Given the description of an element on the screen output the (x, y) to click on. 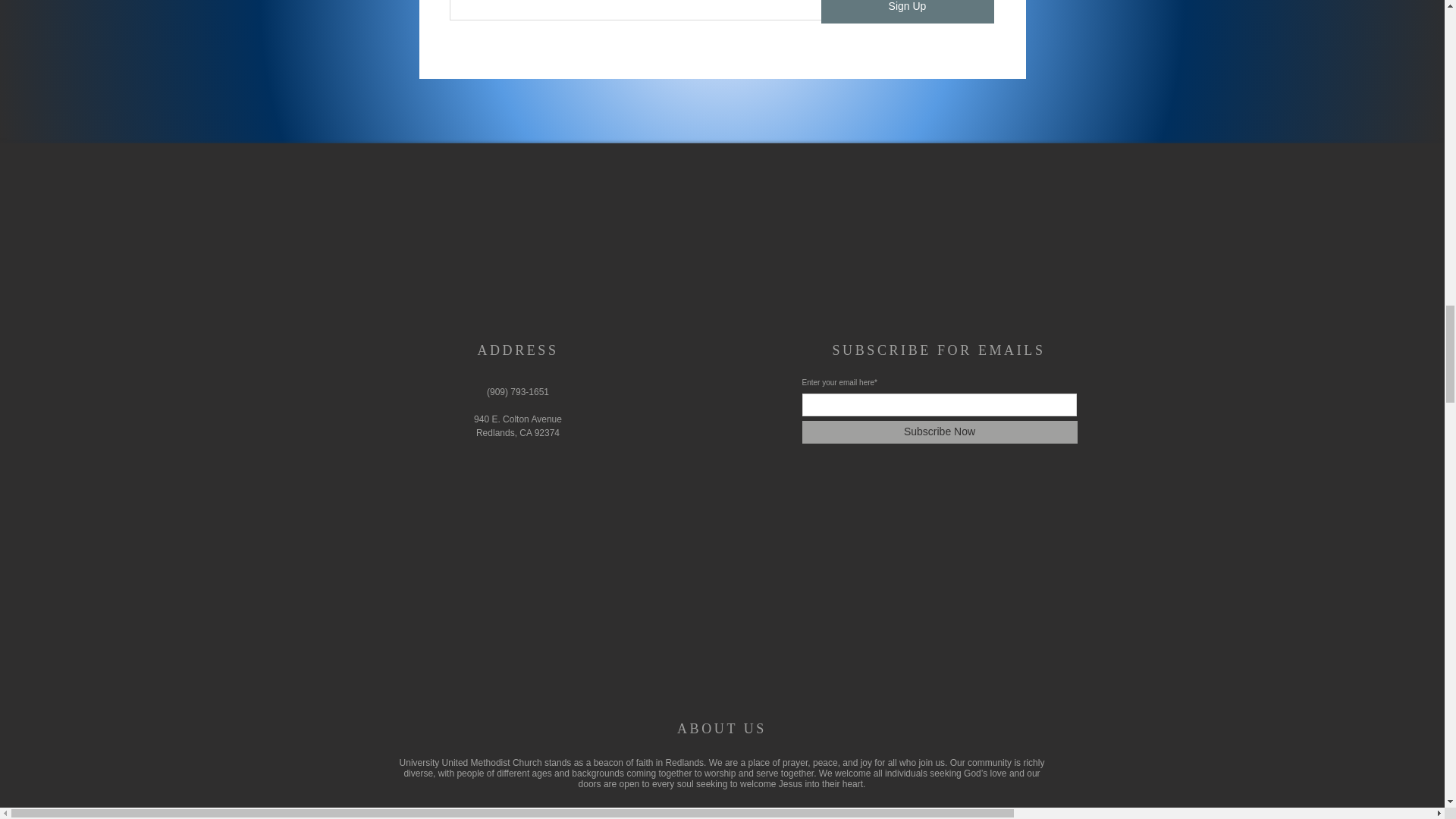
Subscribe Now (939, 431)
Sign Up (906, 11)
